Given the description of an element on the screen output the (x, y) to click on. 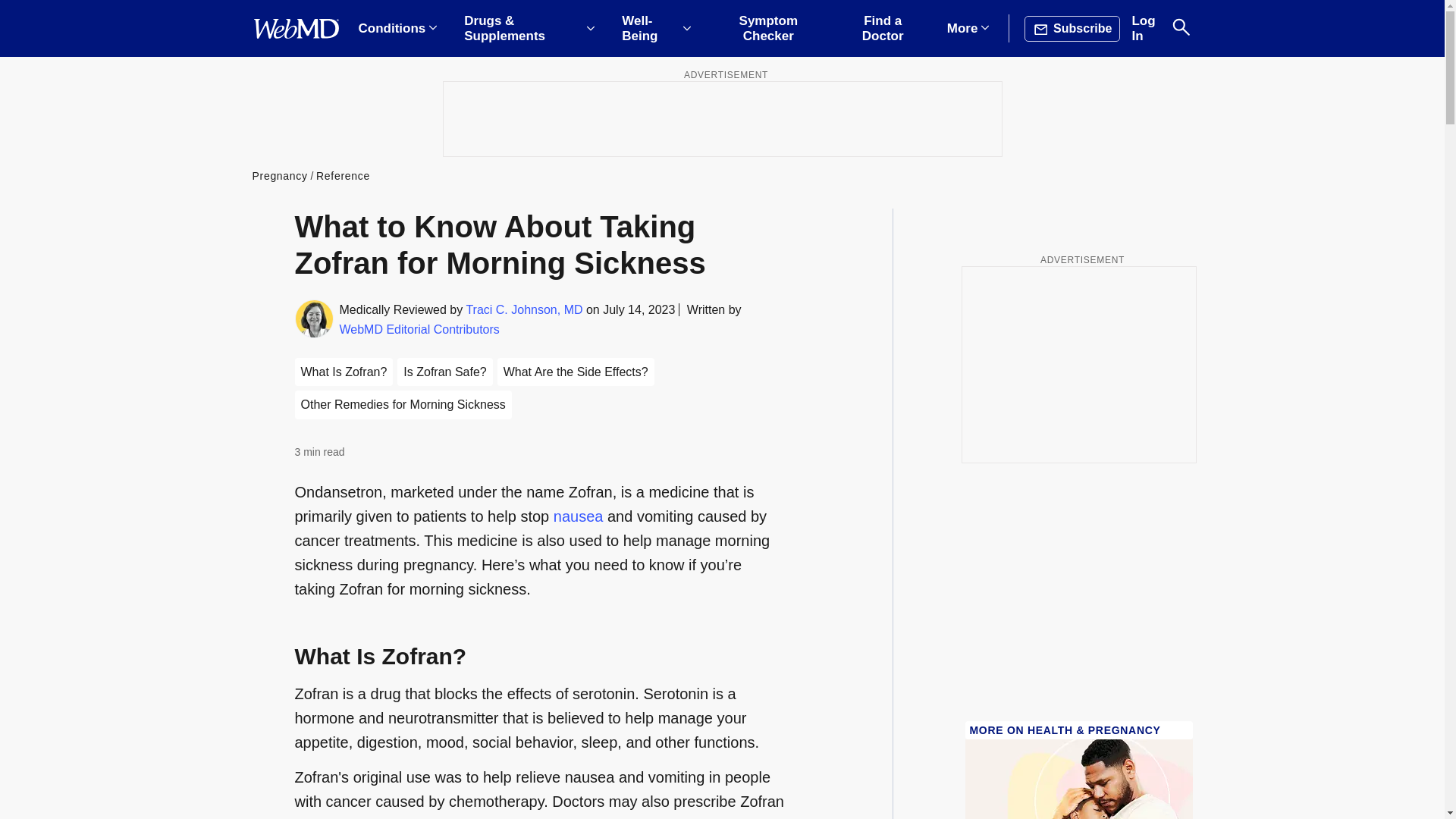
Conditions (397, 28)
3rd party ad content (721, 119)
3rd party ad content (1077, 364)
